Given the description of an element on the screen output the (x, y) to click on. 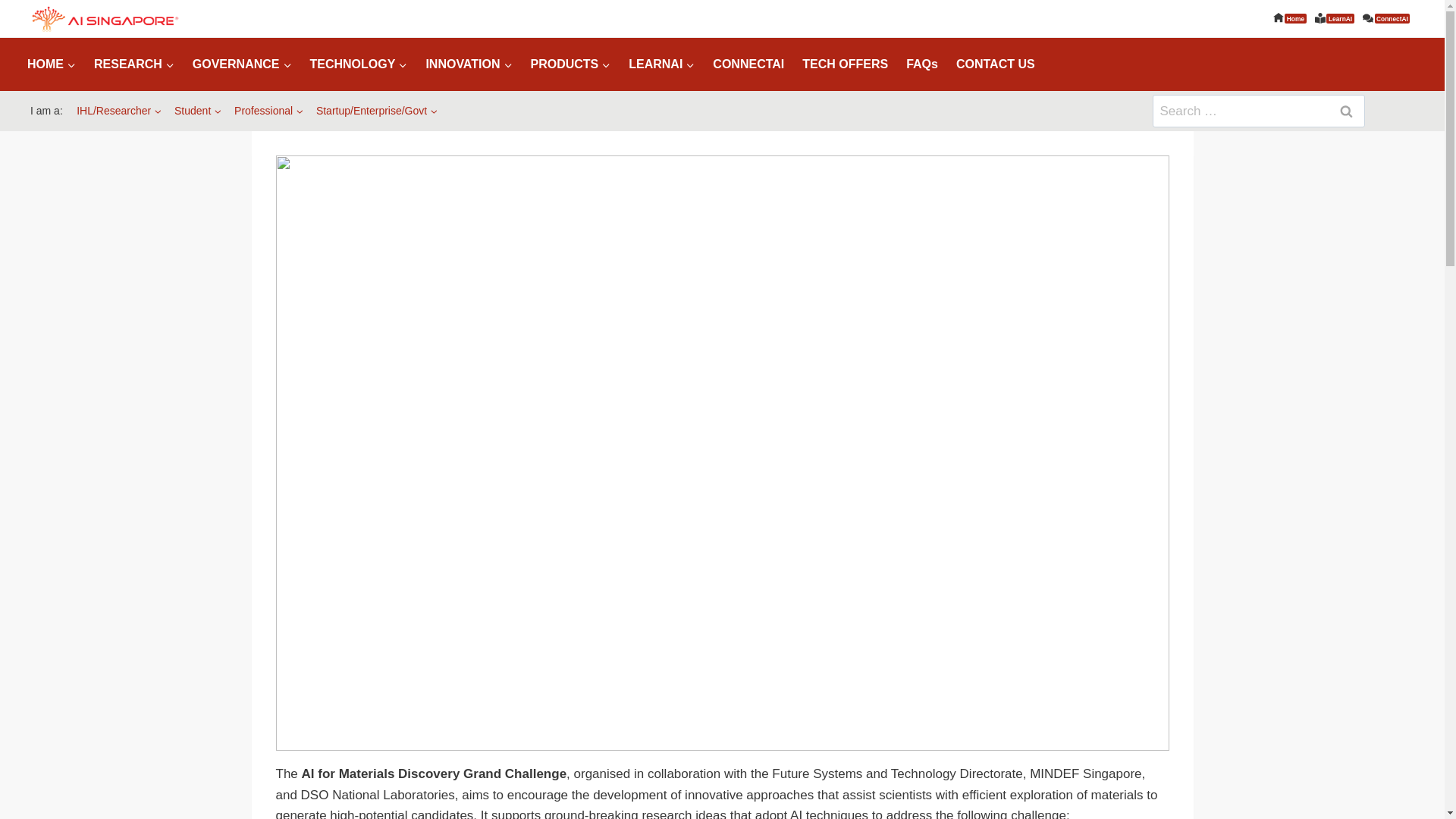
Home (1289, 18)
RESEARCH (133, 64)
TECHNOLOGY (357, 64)
ConnectAI (1385, 18)
Search (1345, 111)
PRODUCTS (570, 64)
INNOVATION (468, 64)
Search (1345, 111)
HOME (50, 64)
LearnAI (1334, 18)
